Given the description of an element on the screen output the (x, y) to click on. 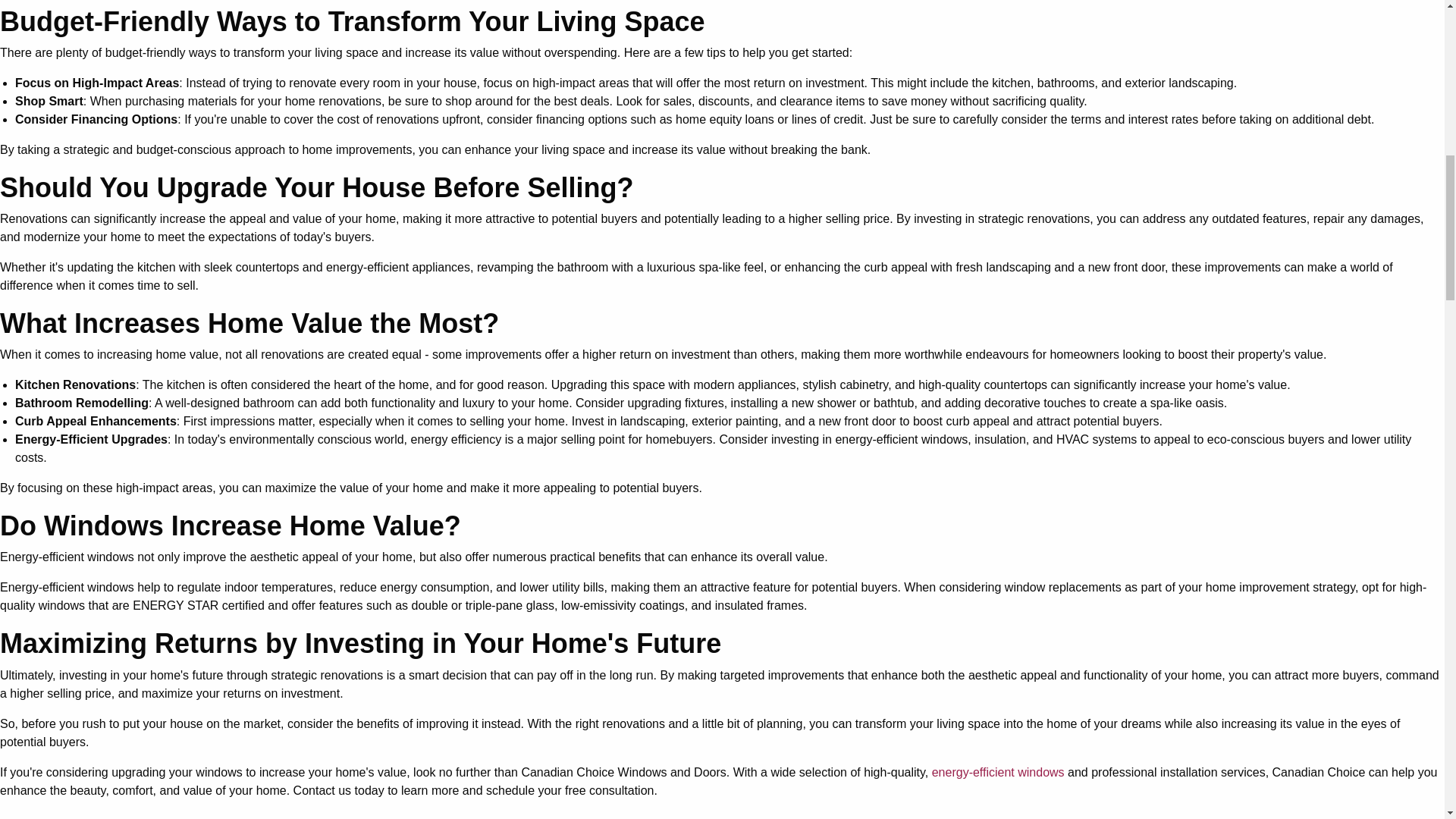
energy-efficient windows (999, 771)
